Given the description of an element on the screen output the (x, y) to click on. 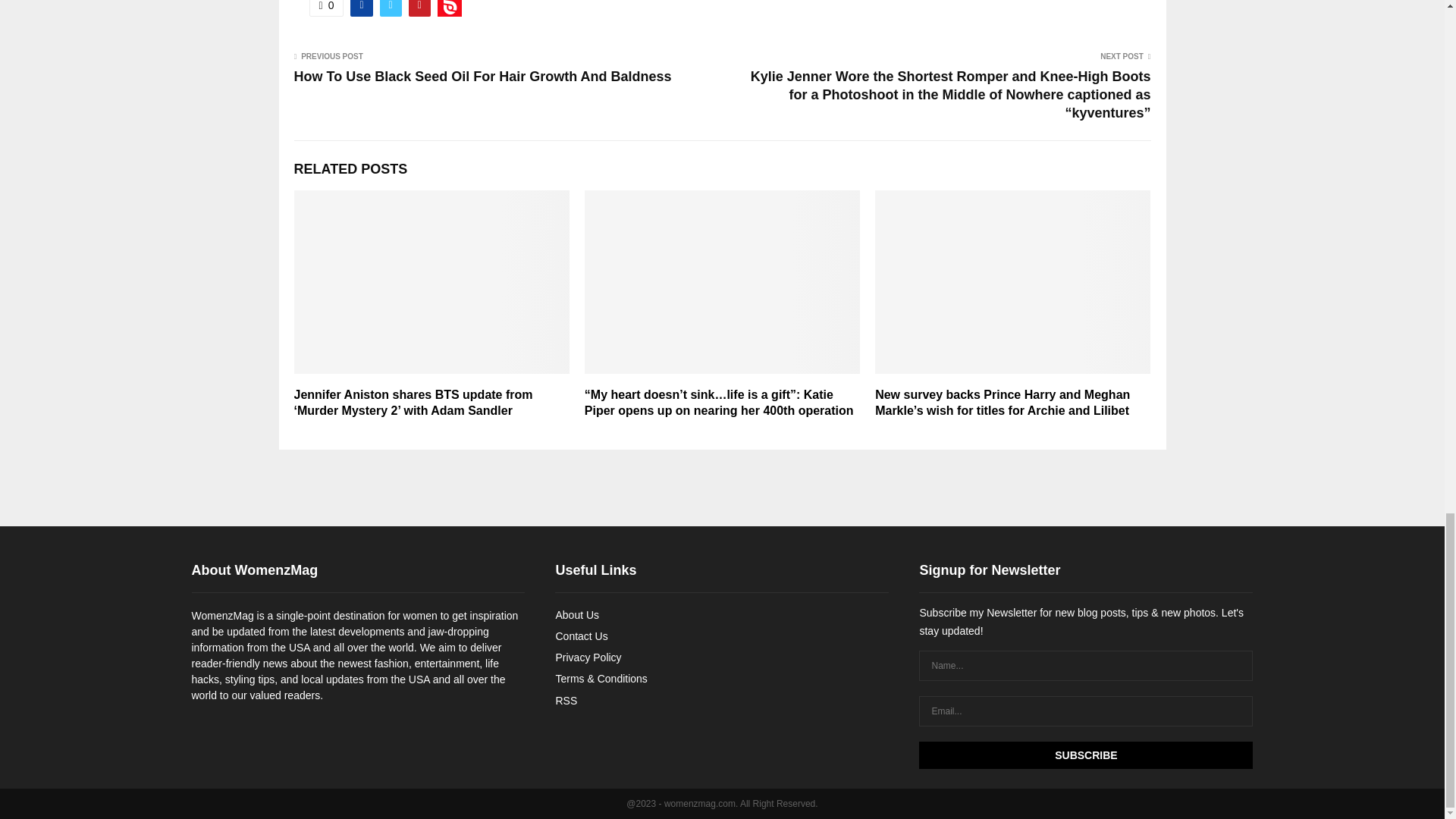
Subscribe (1085, 755)
Like (325, 8)
How To Use Black Seed Oil For Hair Growth And Baldness (482, 76)
0 (325, 8)
